Given the description of an element on the screen output the (x, y) to click on. 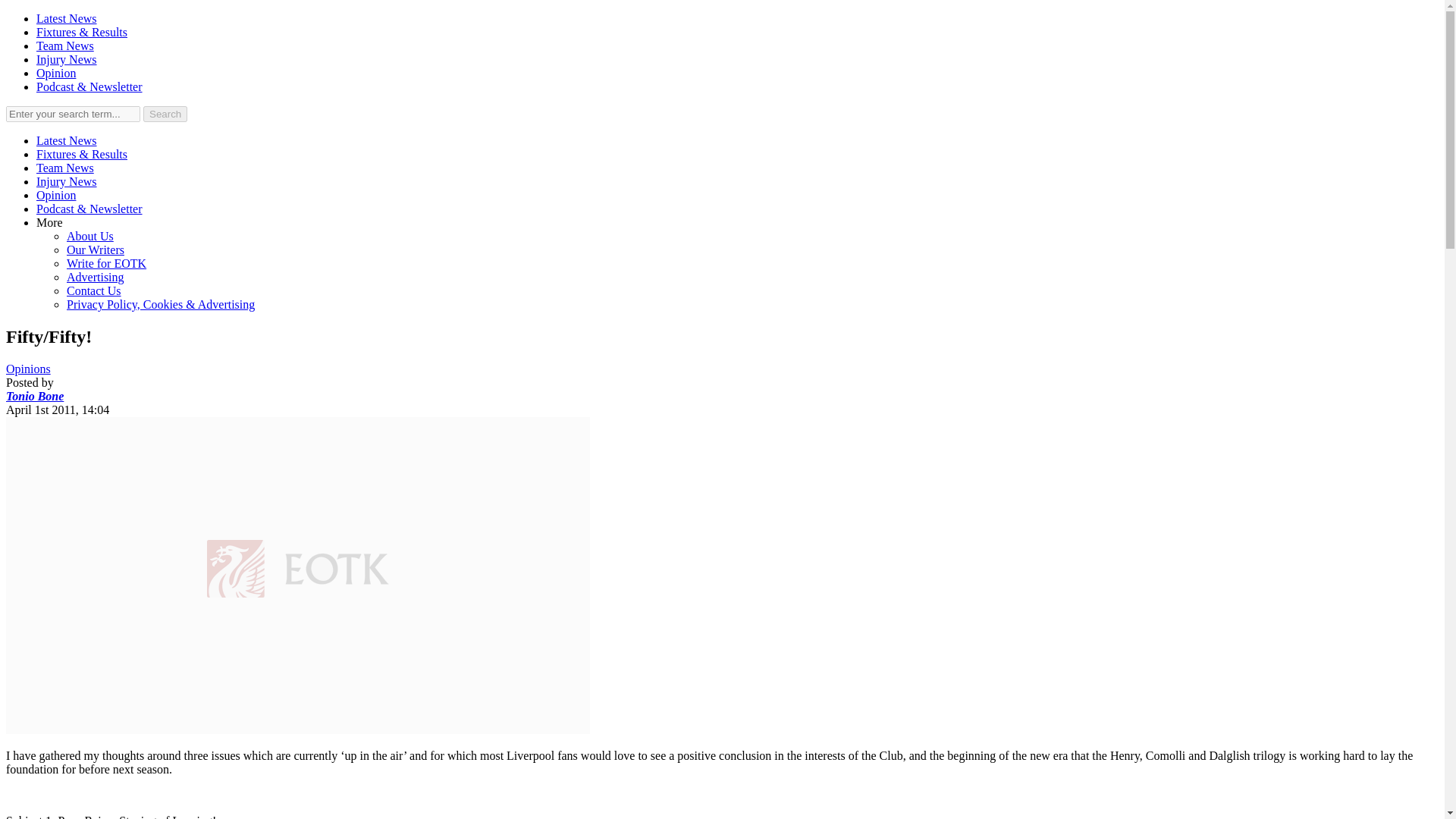
Liverpool Injury News (66, 181)
More (49, 222)
Tonio Bone (34, 395)
Team News (65, 167)
Our Writers (94, 249)
Search (164, 114)
Search (164, 114)
Latest Liverpool News (66, 18)
Latest Liverpool News (66, 140)
Injury News (66, 181)
Opinion (55, 195)
Team News (65, 45)
About Us (89, 236)
Write for EOTK (106, 263)
Empire Of The Kop Podcast (89, 86)
